Given the description of an element on the screen output the (x, y) to click on. 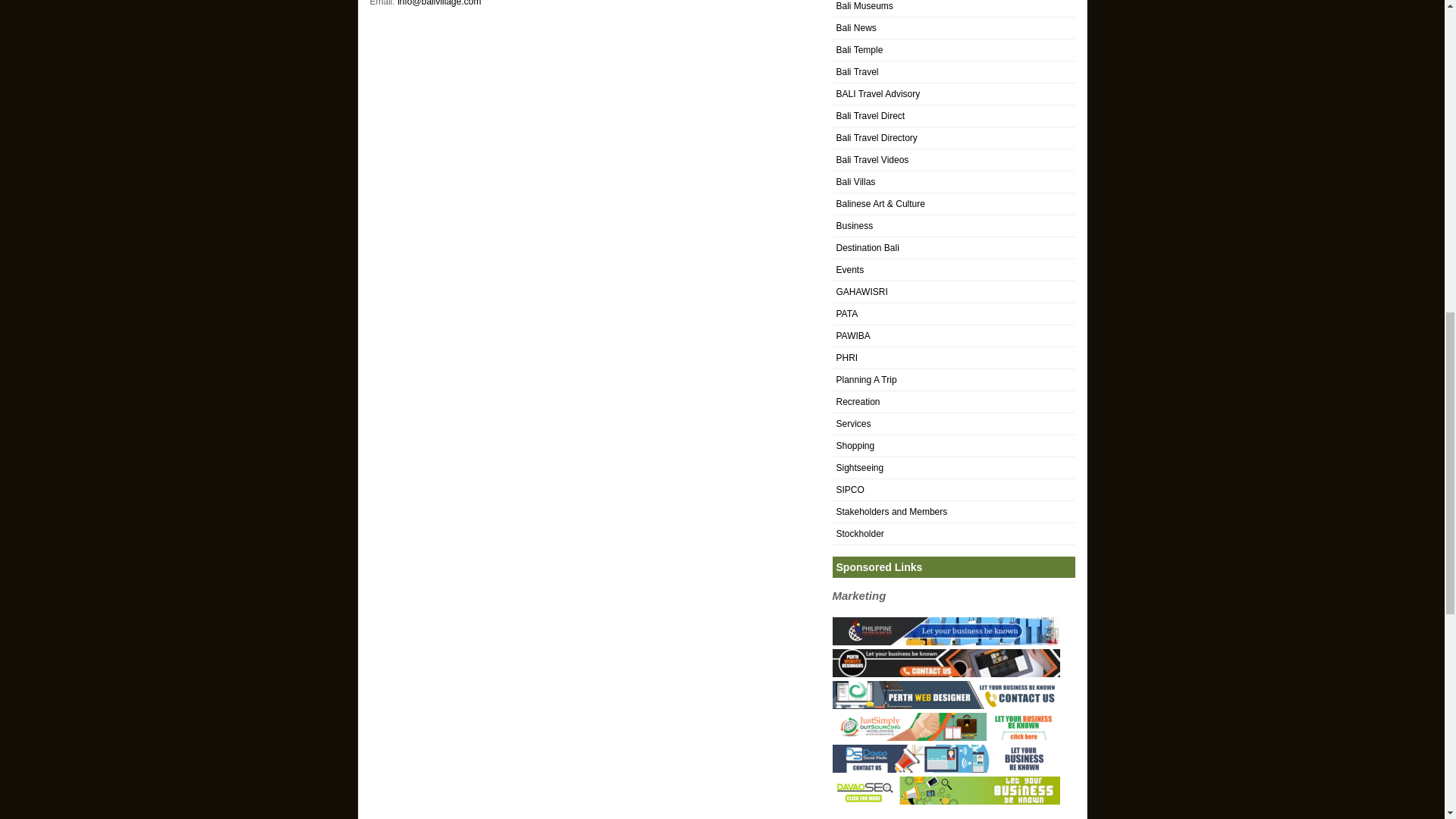
Bali News (855, 27)
Bali Museums (863, 5)
Bali Temple (858, 50)
BALI Travel Advisory (877, 93)
Bali Travel Direct (869, 115)
Bali Travel (856, 71)
